Given the description of an element on the screen output the (x, y) to click on. 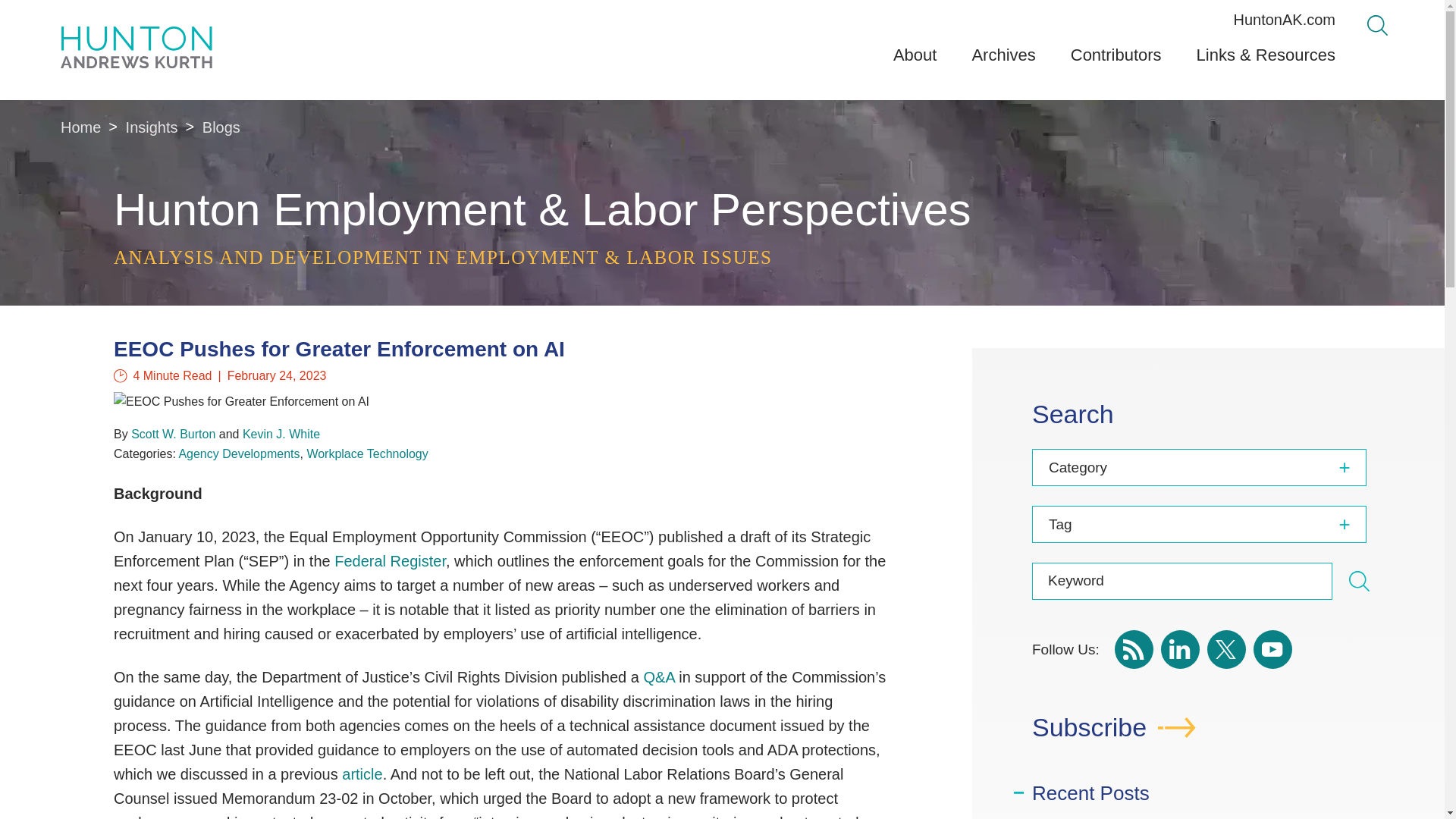
Main Content (674, 17)
article (361, 773)
Search (1377, 25)
Kevin J. White (281, 433)
HuntonAK.com (1284, 19)
Youtube (1272, 649)
Scott W. Burton (173, 433)
Federal Register (389, 560)
Main Menu (680, 17)
Search (1359, 580)
About (915, 60)
Contributors (1115, 60)
Linkedin (1179, 649)
Agency Developments (238, 453)
X (1226, 649)
